Given the description of an element on the screen output the (x, y) to click on. 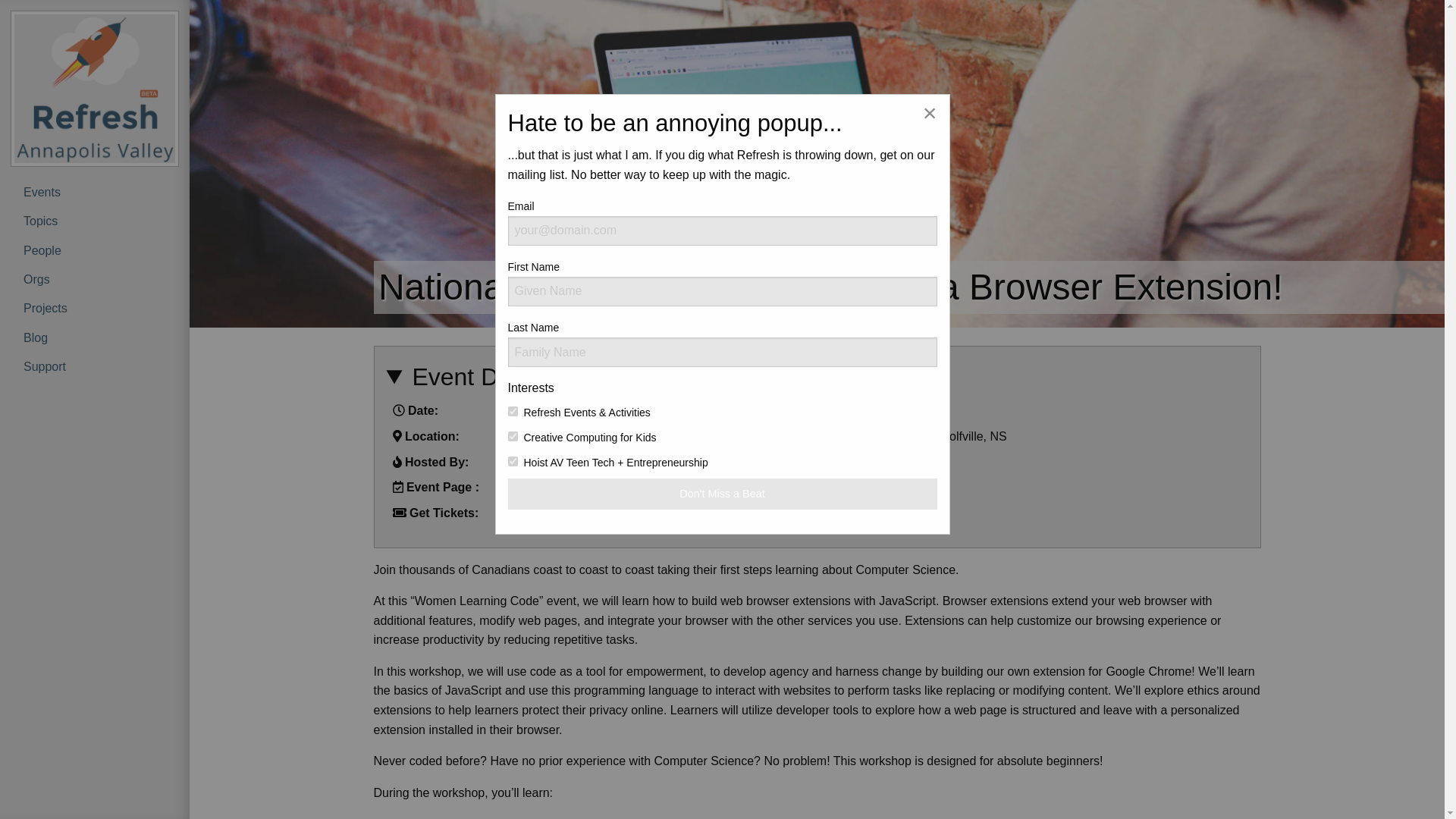
on (513, 411)
Eventbright (536, 512)
Topics (94, 221)
Orgs (94, 279)
Support (94, 366)
on (513, 461)
Refresh AV Meetups (561, 461)
Projects (94, 308)
on (513, 436)
Don't Miss a Beat (722, 493)
People (94, 249)
Blog (94, 337)
Don't Miss a Beat (722, 493)
Events (94, 192)
Facebook (532, 486)
